Given the description of an element on the screen output the (x, y) to click on. 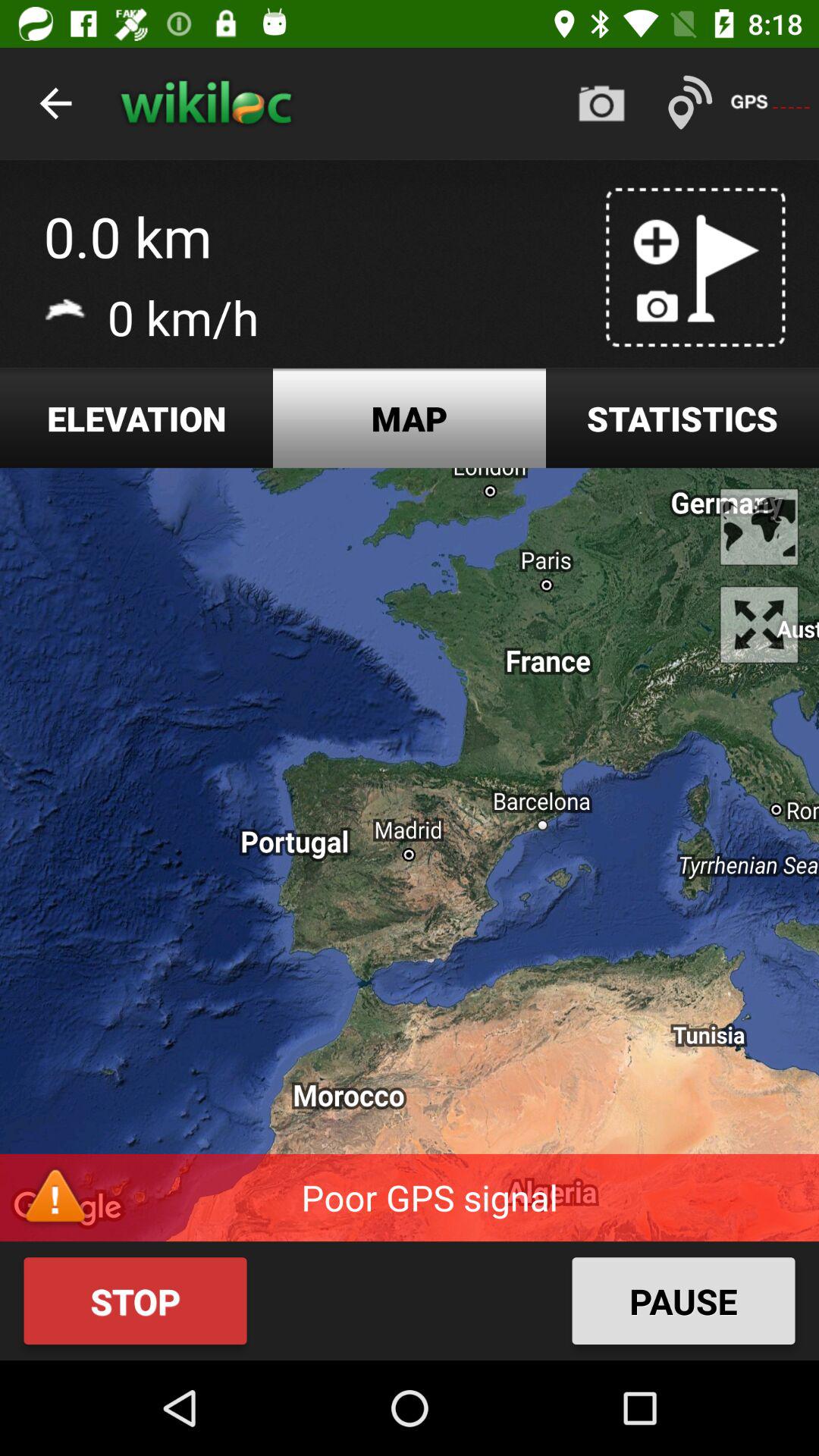
swipe to statistics button (682, 418)
